Given the description of an element on the screen output the (x, y) to click on. 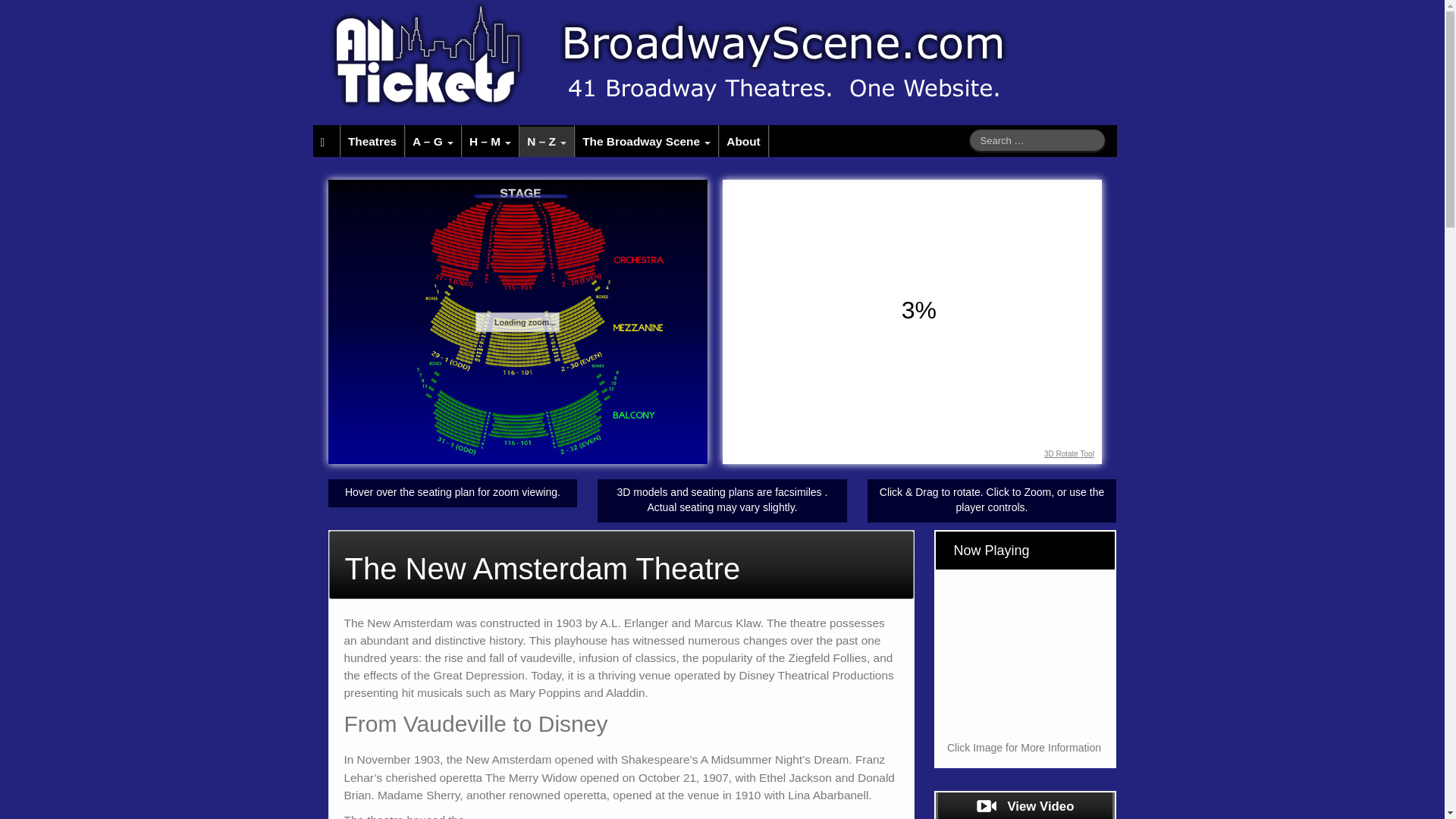
Theatres (372, 141)
